Given the description of an element on the screen output the (x, y) to click on. 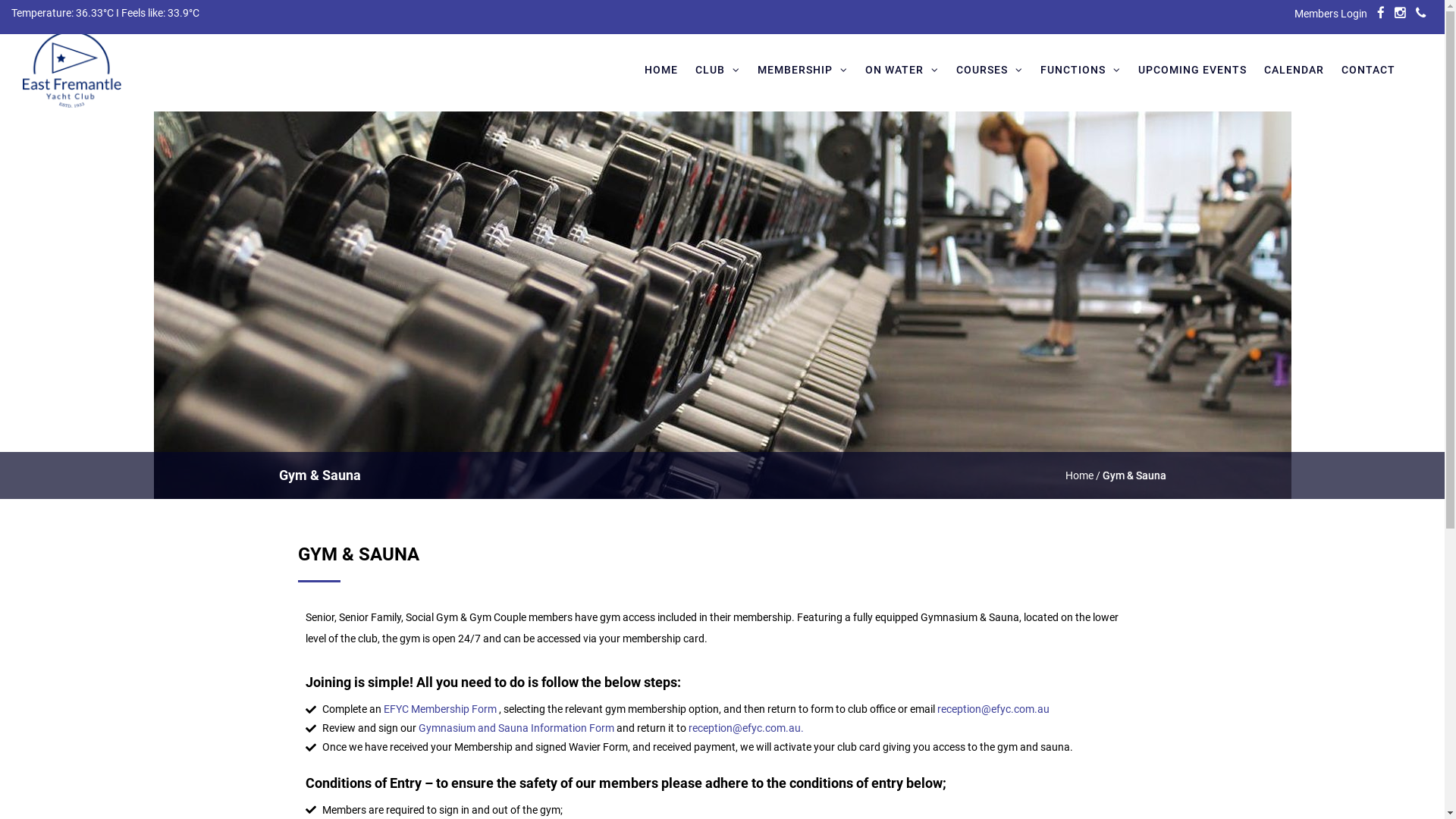
CALENDAR Element type: text (1294, 67)
Members Login Element type: text (1330, 13)
ON WATER Element type: text (901, 67)
CLUB Element type: text (717, 67)
reception@efyc.com.au. Element type: text (745, 727)
MEMBERSHIP Element type: text (802, 67)
CONTACT Element type: text (1368, 67)
reception@efyc.com.au Element type: text (993, 708)
COURSES Element type: text (989, 67)
FUNCTIONS Element type: text (1080, 67)
Home Element type: text (1079, 475)
UPCOMING EVENTS Element type: text (1192, 67)
HOME Element type: text (660, 67)
EFYC Membership Form Element type: text (439, 708)
Gymnasium and Sauna Information Form Element type: text (517, 727)
